Given the description of an element on the screen output the (x, y) to click on. 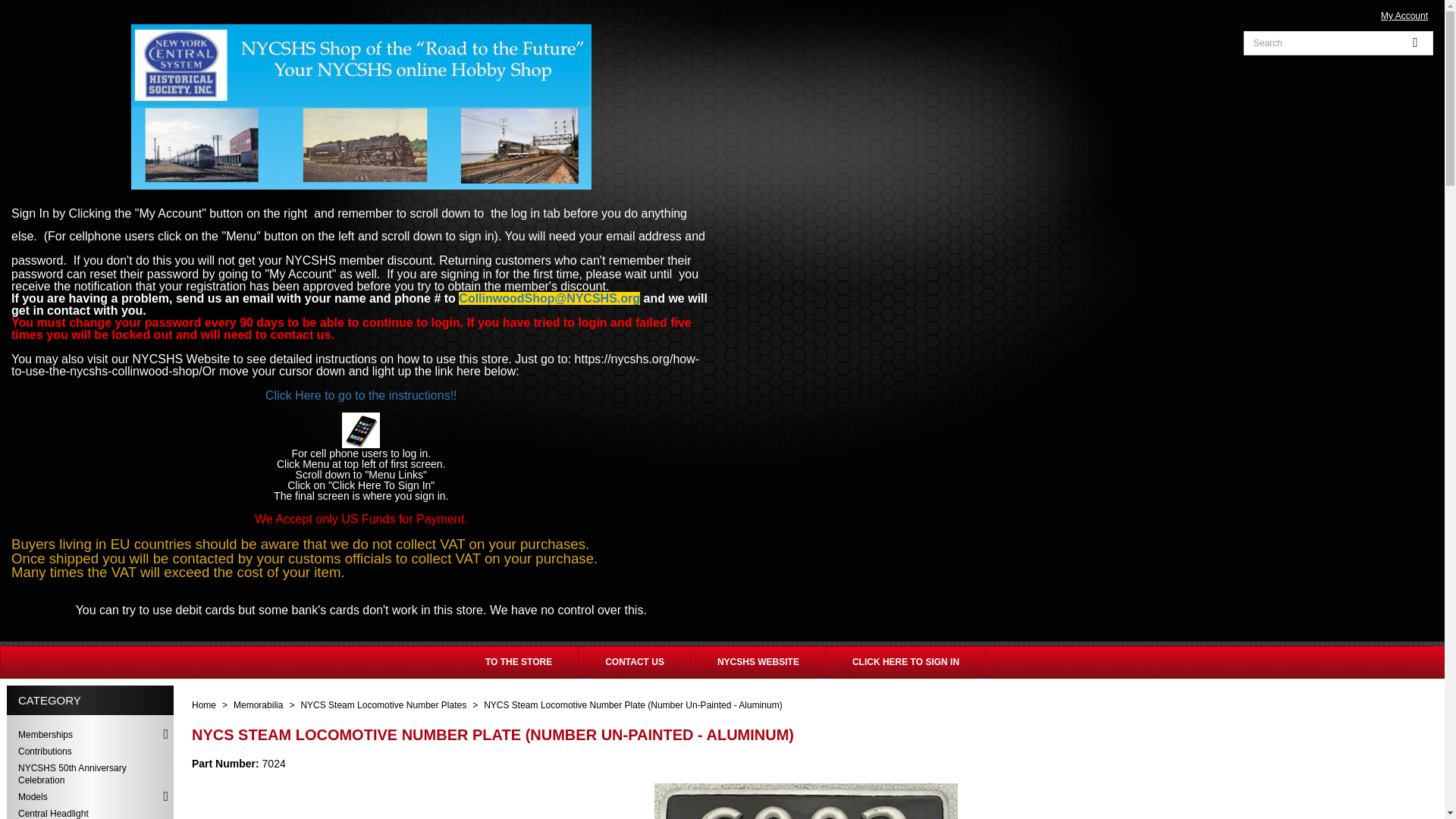
CONTACT US (634, 662)
Central Headlight (90, 812)
Contributions (90, 751)
Click Here to go to the instructions!! (360, 395)
My Account (1404, 15)
Models (90, 796)
TO THE STORE (518, 662)
CLICK HERE TO SIGN IN (905, 662)
Memberships (90, 734)
NYCSHS 50th Anniversary Celebration (90, 774)
NYCSHS WEBSITE (757, 662)
